Given the description of an element on the screen output the (x, y) to click on. 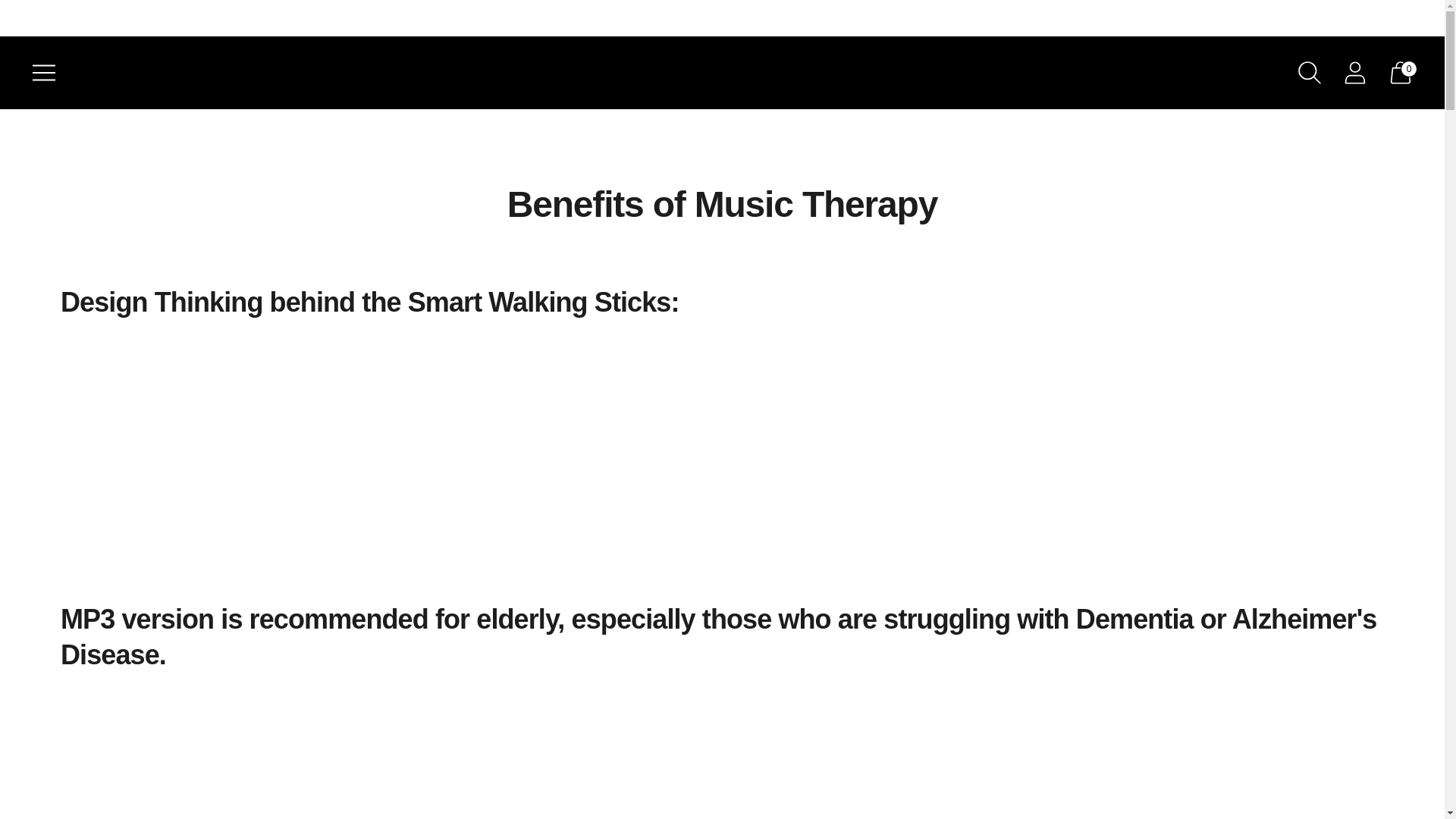
0 (1400, 72)
